Given the description of an element on the screen output the (x, y) to click on. 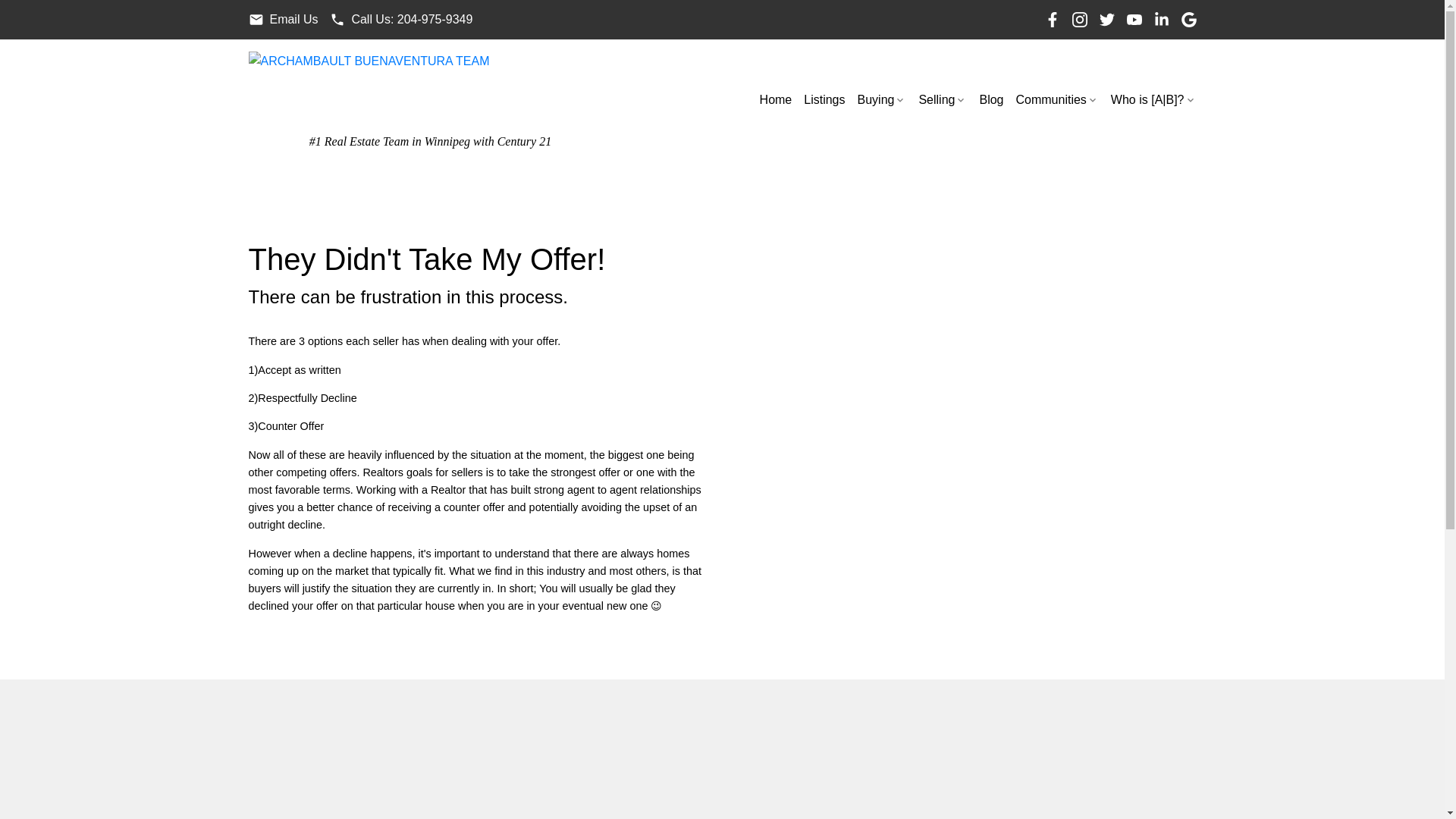
Home (776, 99)
Email Us (283, 19)
Call Us: 204-975-9349 (400, 19)
Listings (823, 99)
Blog (990, 99)
